Given the description of an element on the screen output the (x, y) to click on. 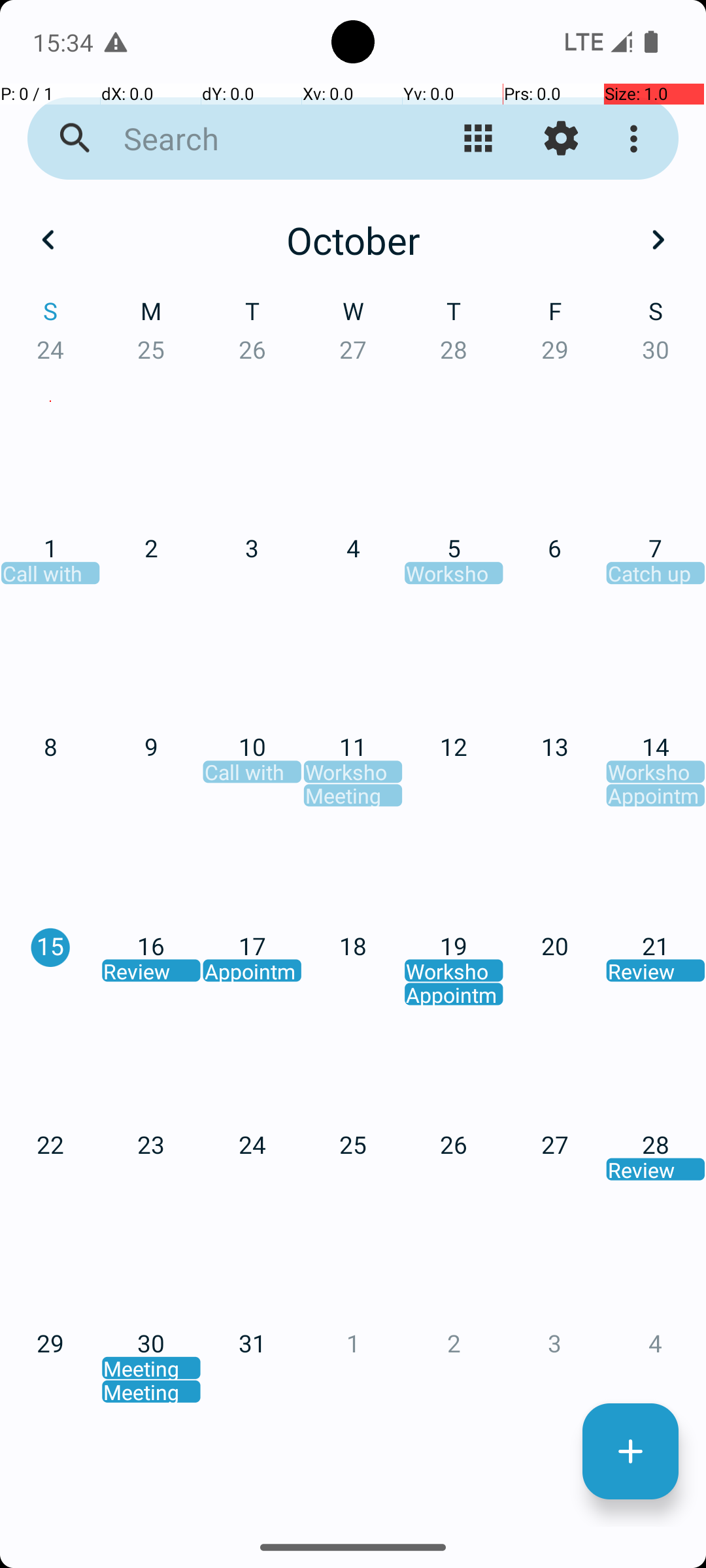
October Element type: android.widget.TextView (352, 239)
